Given the description of an element on the screen output the (x, y) to click on. 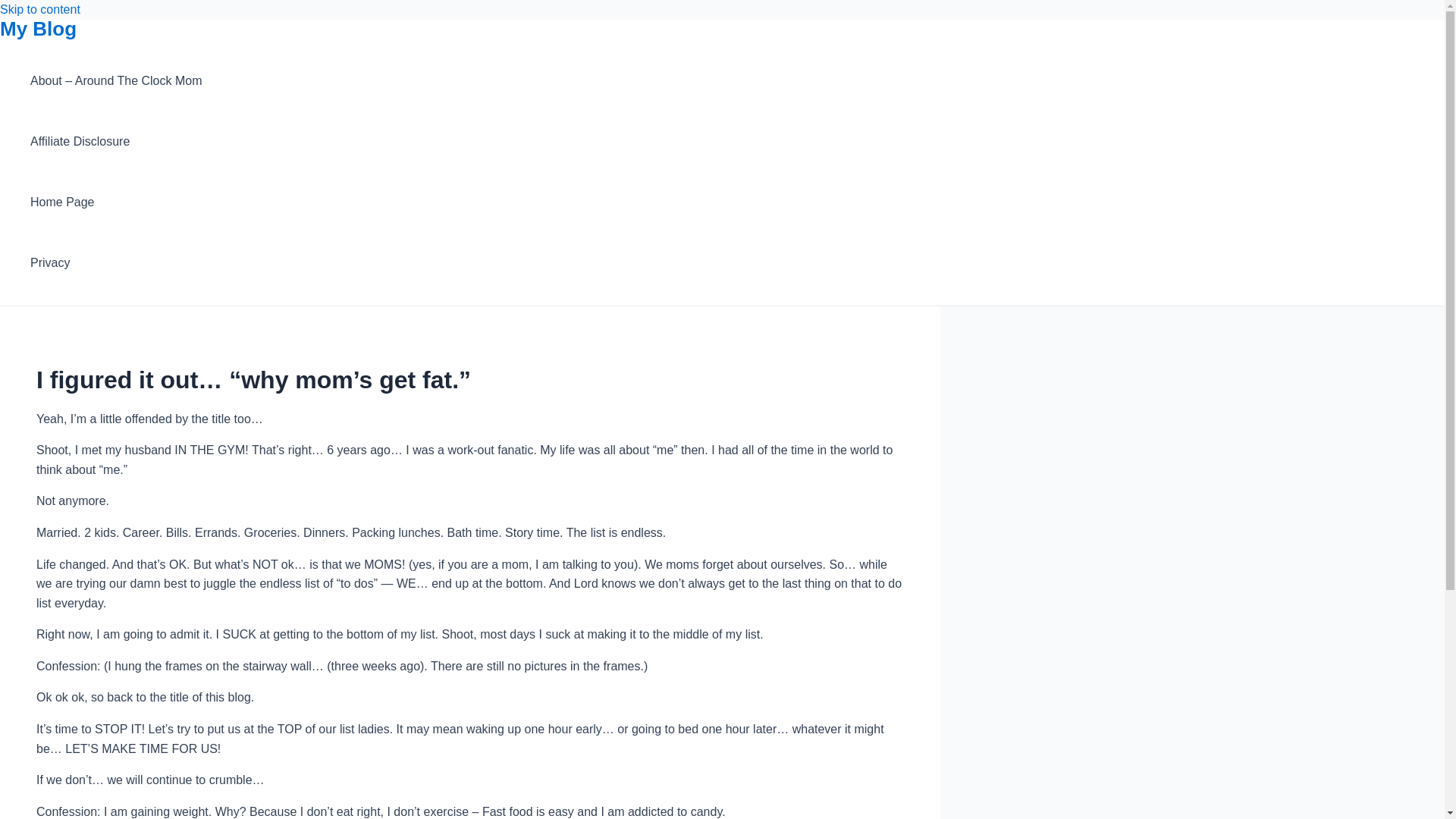
Home Page (116, 201)
Skip to content (40, 9)
Affiliate Disclosure (116, 141)
Skip to content (40, 9)
Privacy (116, 262)
My Blog (38, 28)
